Given the description of an element on the screen output the (x, y) to click on. 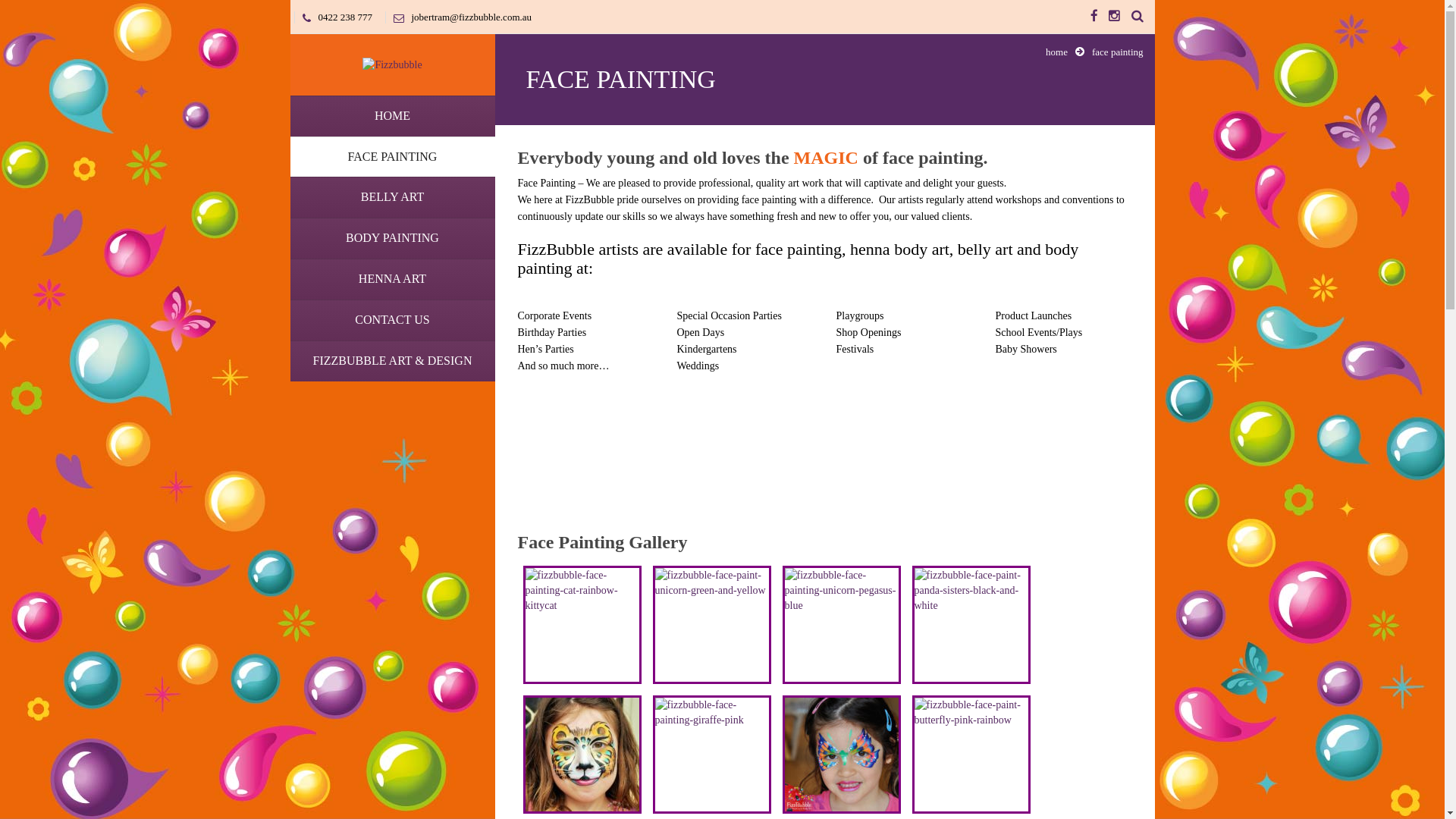
Instagram Element type: hover (1114, 17)
CONTACT US Element type: text (391, 319)
home Element type: text (1056, 51)
HOME Element type: text (391, 115)
fizzbubble-face-paint-panda-sisters-black-and-white Element type: hover (971, 624)
FACE PAINTING Element type: text (391, 156)
BELLY ART Element type: text (391, 196)
fizzbubble-butterfly-face-paint-blue-orange-green Element type: hover (840, 754)
Fizzbubble Element type: hover (391, 63)
Facebook Element type: hover (1094, 17)
fizzbubble-face-paint-unicorn-green-and-yellow Element type: hover (711, 624)
jobertram@fizzbubble.com.au Element type: text (458, 16)
fizzbubble-face-painting-unicorn-pegasus-blue Element type: hover (840, 624)
fizzbubble-face-painting-leopard-gold Element type: hover (581, 754)
fizzbubble-face-paint-butterfly-pink-rainbow Element type: hover (971, 754)
fizzbubble-face-painting-cat-rainbow-kittycat Element type: hover (581, 624)
HENNA ART Element type: text (391, 278)
fizzbubble-face-painting-giraffe-pink Element type: hover (711, 754)
BODY PAINTING Element type: text (391, 237)
FIZZBUBBLE ART & DESIGN Element type: text (391, 360)
Search the Site Element type: hover (1137, 17)
